Given the description of an element on the screen output the (x, y) to click on. 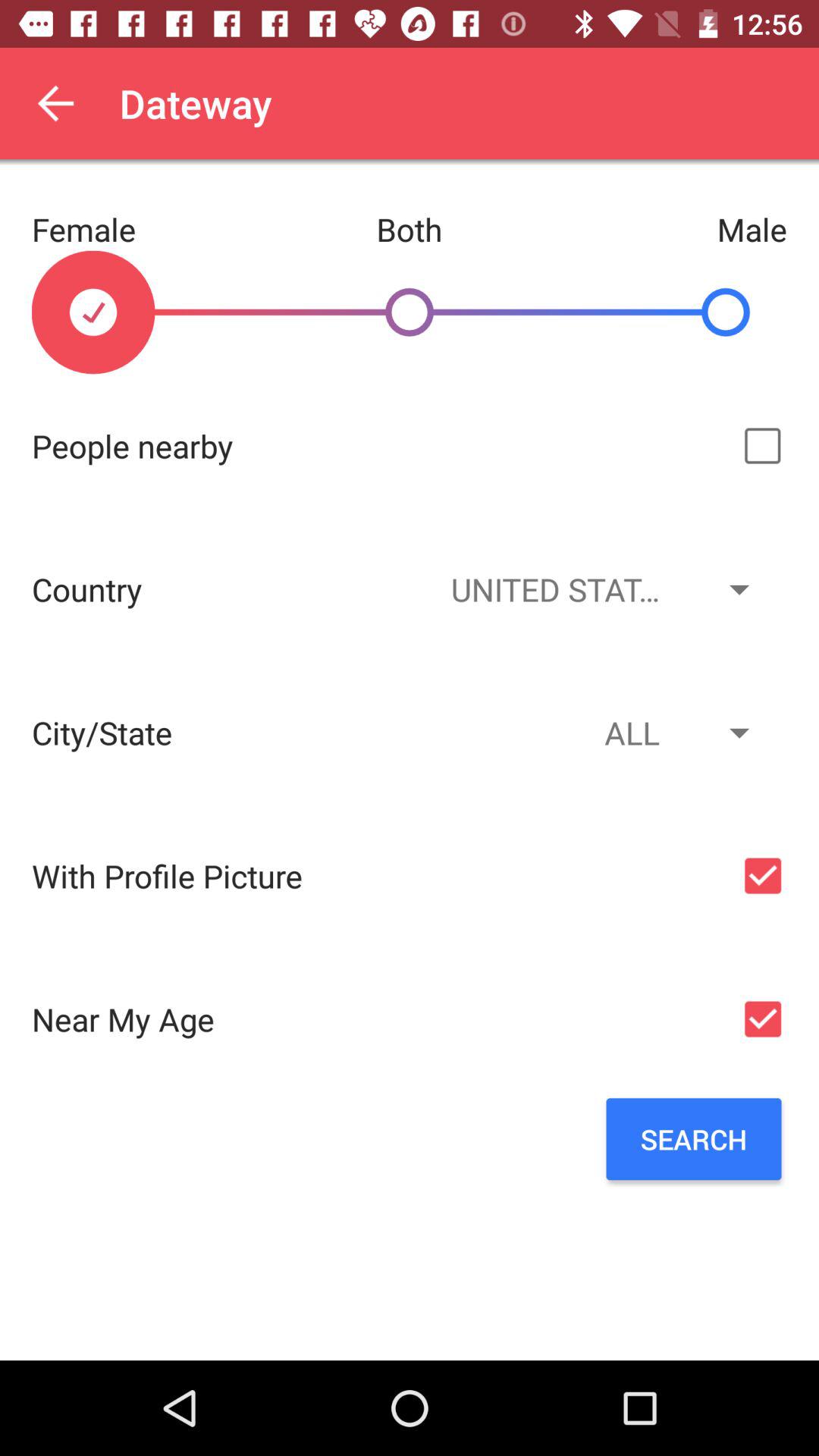
go back (55, 103)
